Given the description of an element on the screen output the (x, y) to click on. 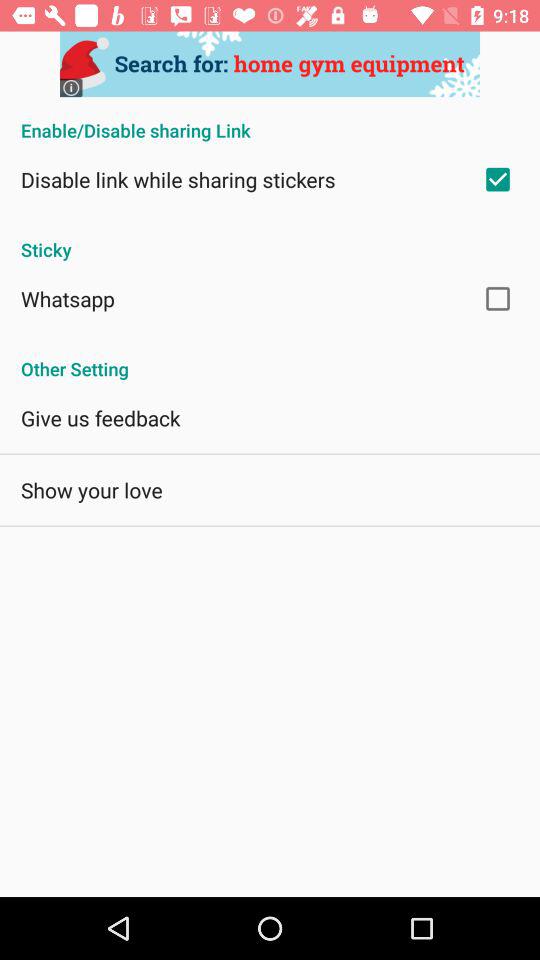
advertisement to search home gym equipment (270, 64)
